Given the description of an element on the screen output the (x, y) to click on. 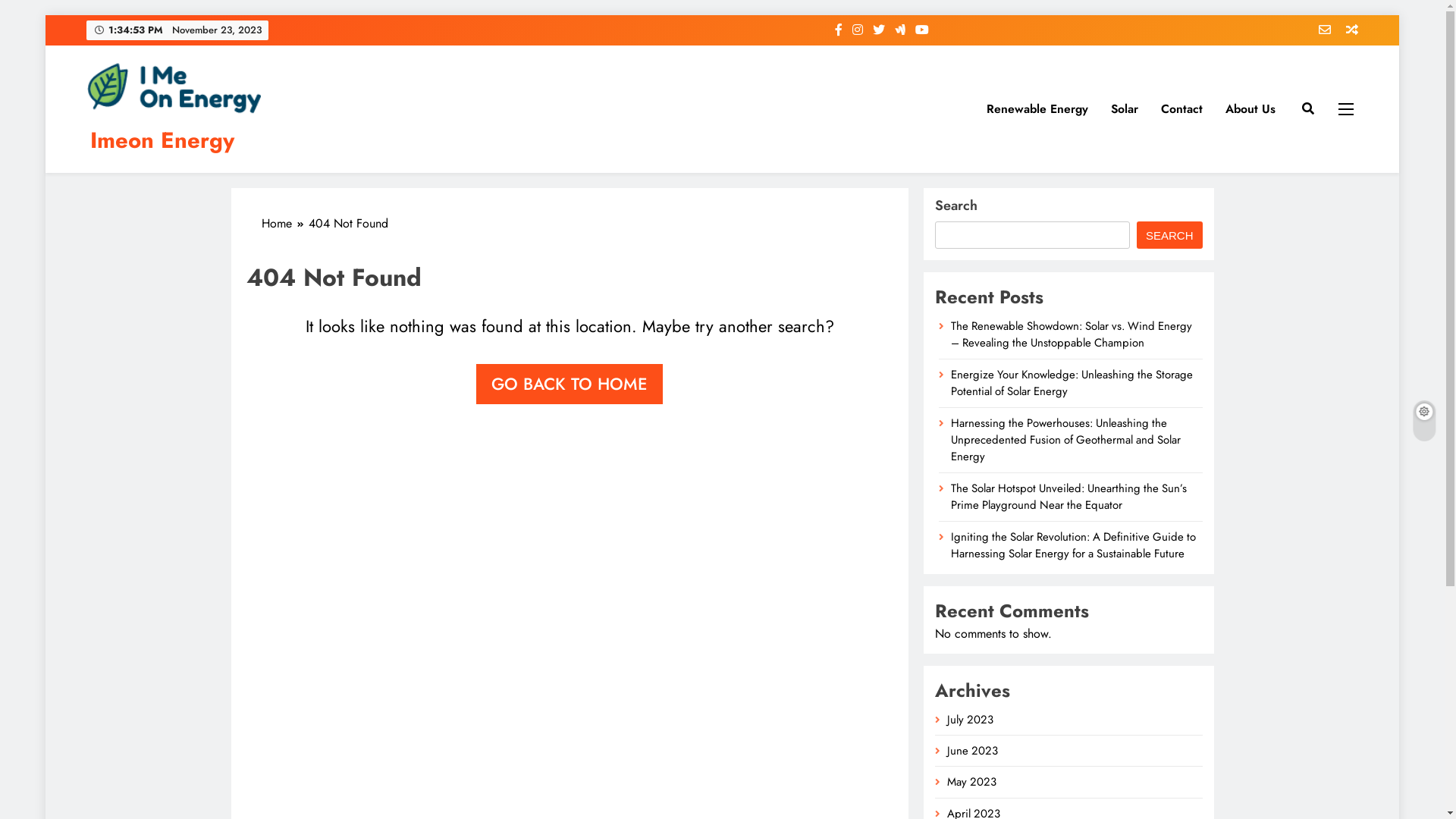
SEARCH Element type: text (1169, 234)
Solar Element type: text (1124, 108)
July 2023 Element type: text (970, 719)
Newsletter Element type: hover (1318, 30)
Skip to content Element type: text (44, 14)
June 2023 Element type: text (972, 750)
Home Element type: text (283, 223)
Contact Element type: text (1181, 108)
About Us Element type: text (1250, 108)
May 2023 Element type: text (971, 781)
Imeon Energy Element type: text (162, 140)
GO BACK TO HOME Element type: text (569, 384)
Renewable Energy Element type: text (1037, 108)
Random News Element type: hover (1346, 30)
